Given the description of an element on the screen output the (x, y) to click on. 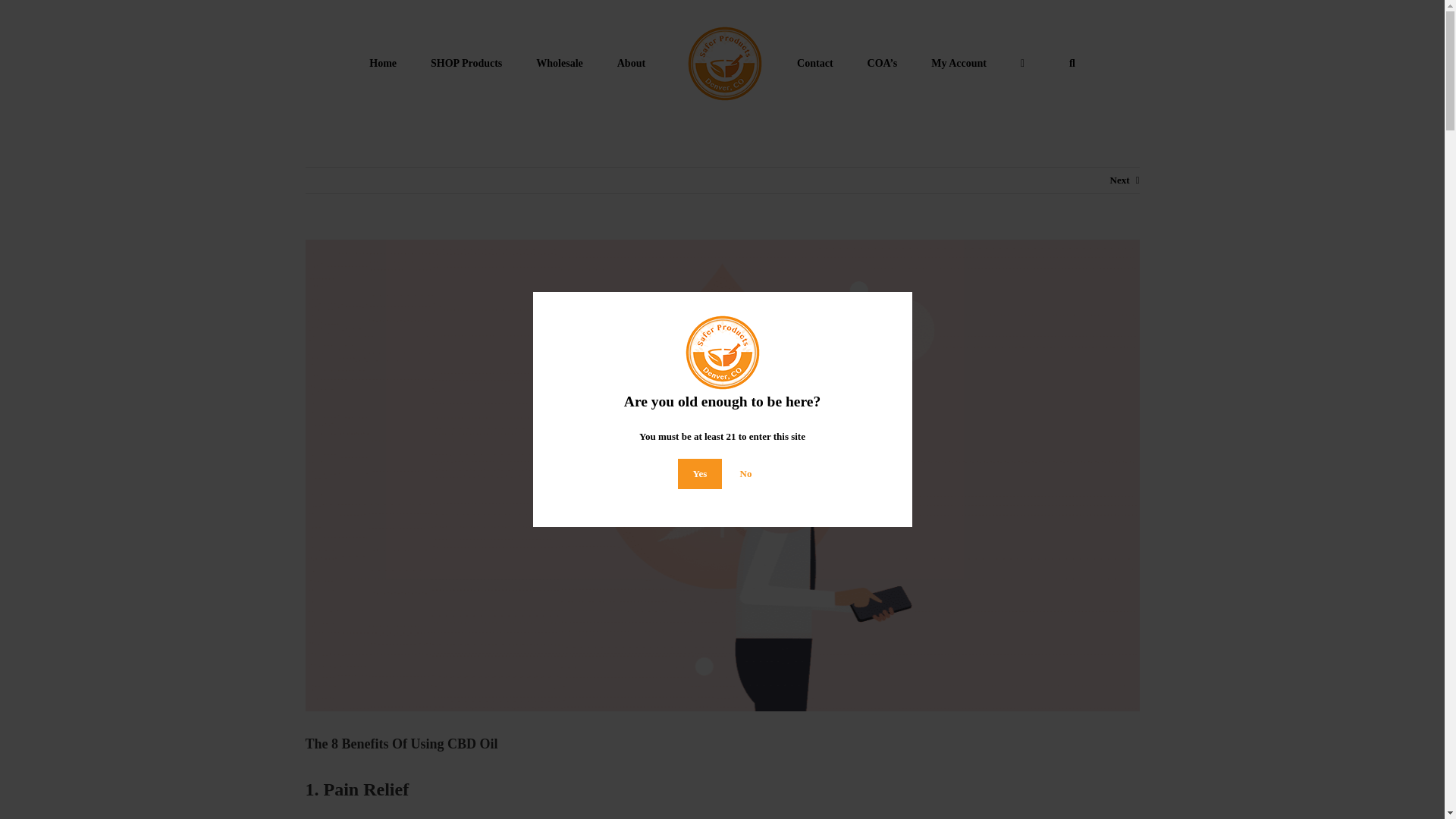
SHOP Products (466, 62)
Yes (700, 473)
No (746, 473)
